Given the description of an element on the screen output the (x, y) to click on. 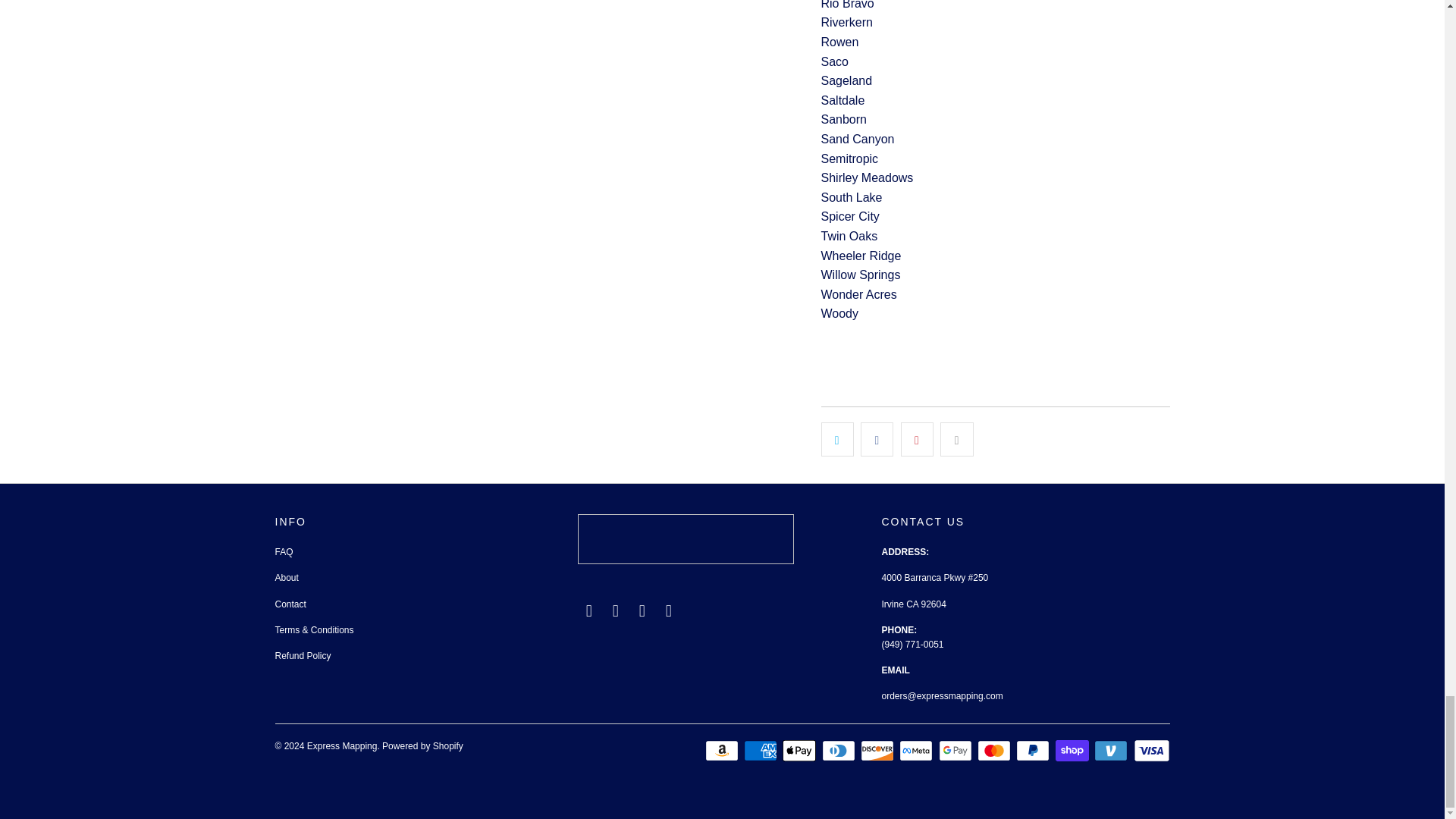
Meta Pay (917, 750)
Apple Pay (800, 750)
Shop Pay (1073, 750)
Venmo (1112, 750)
Visa (1150, 750)
Share this on Pinterest (917, 439)
Amazon (722, 750)
Email Express Mapping (588, 610)
Mastercard (994, 750)
Email this to a friend (956, 439)
